Given the description of an element on the screen output the (x, y) to click on. 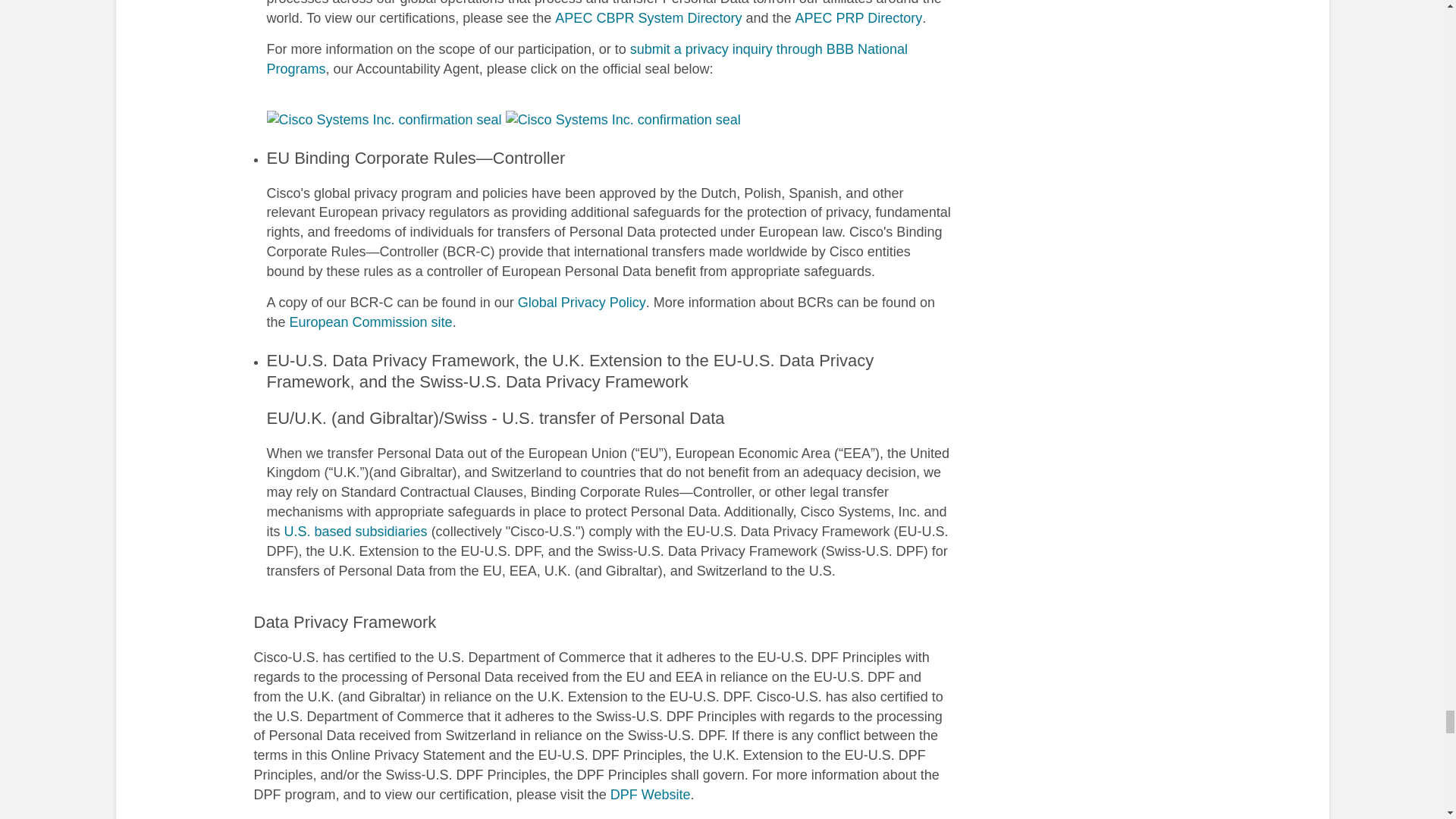
APEC PRP Directory (857, 17)
APEC CBPR System Directory (647, 17)
